Given the description of an element on the screen output the (x, y) to click on. 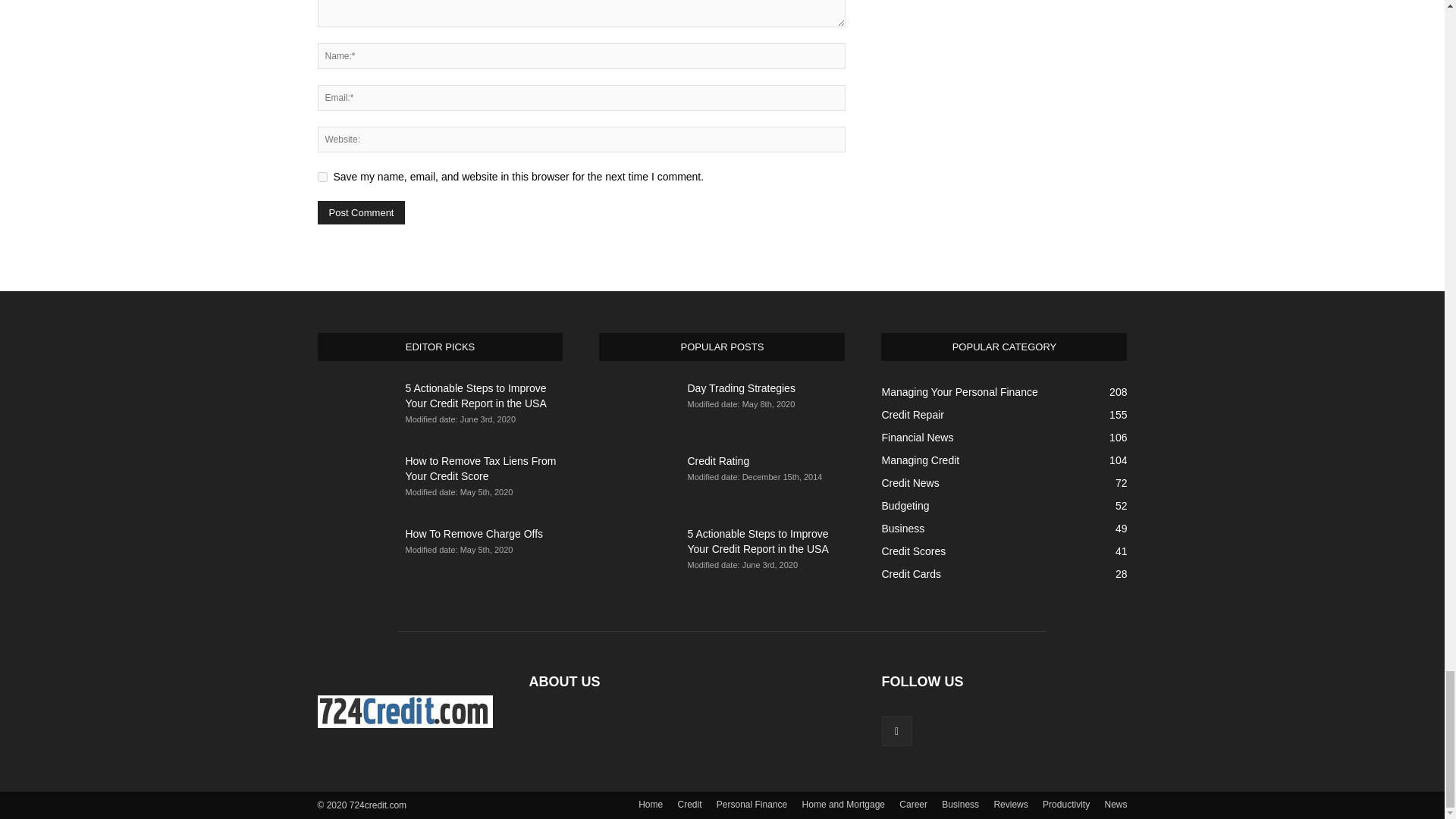
Post Comment (360, 212)
yes (321, 176)
